Given the description of an element on the screen output the (x, y) to click on. 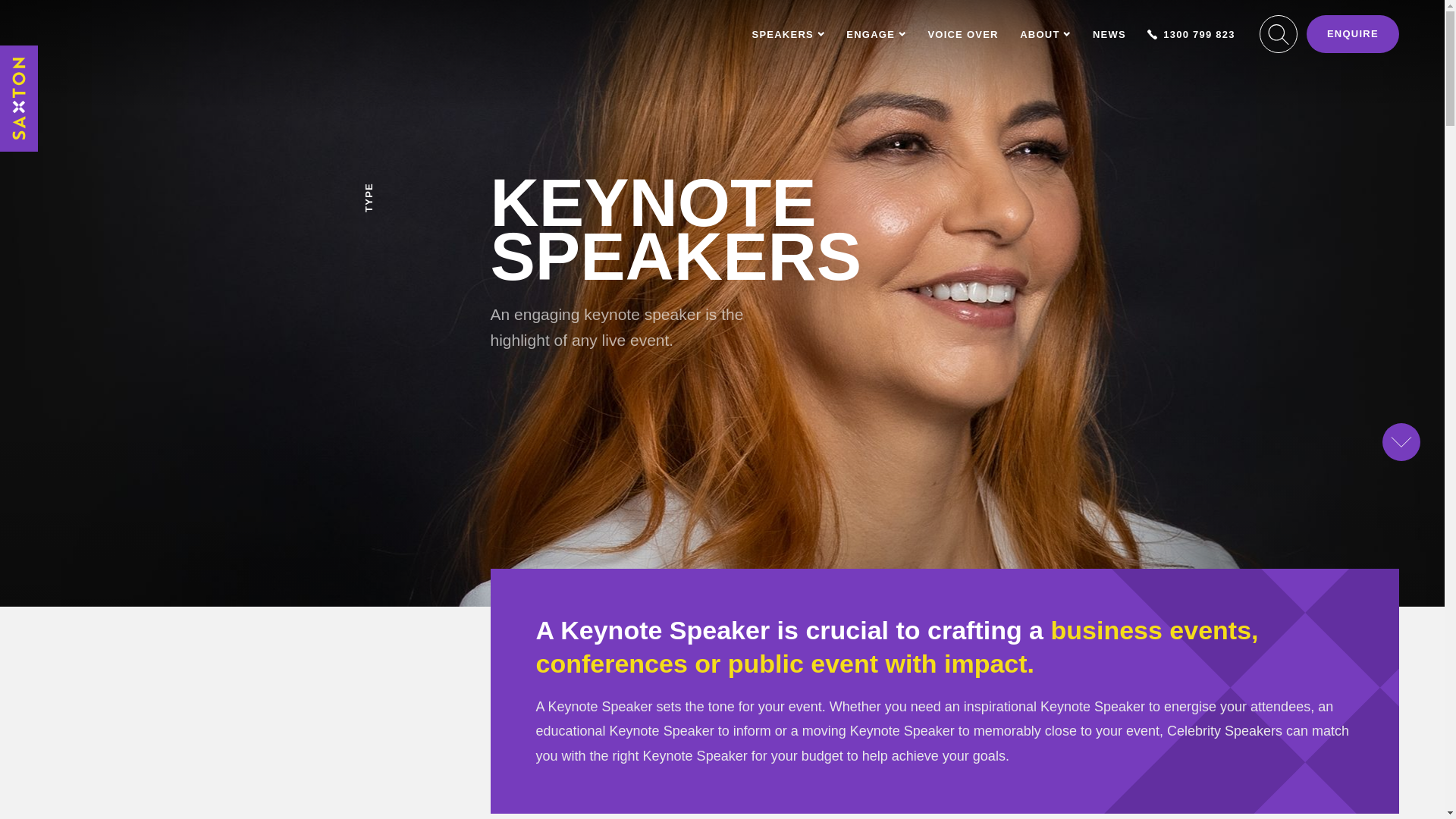
SPEAKERS (788, 34)
NEWS (1109, 34)
ENGAGE (875, 34)
VOICE OVER (962, 34)
ABOUT (1045, 34)
ENQUIRE (1352, 34)
1300 799 823 (1190, 34)
